Given the description of an element on the screen output the (x, y) to click on. 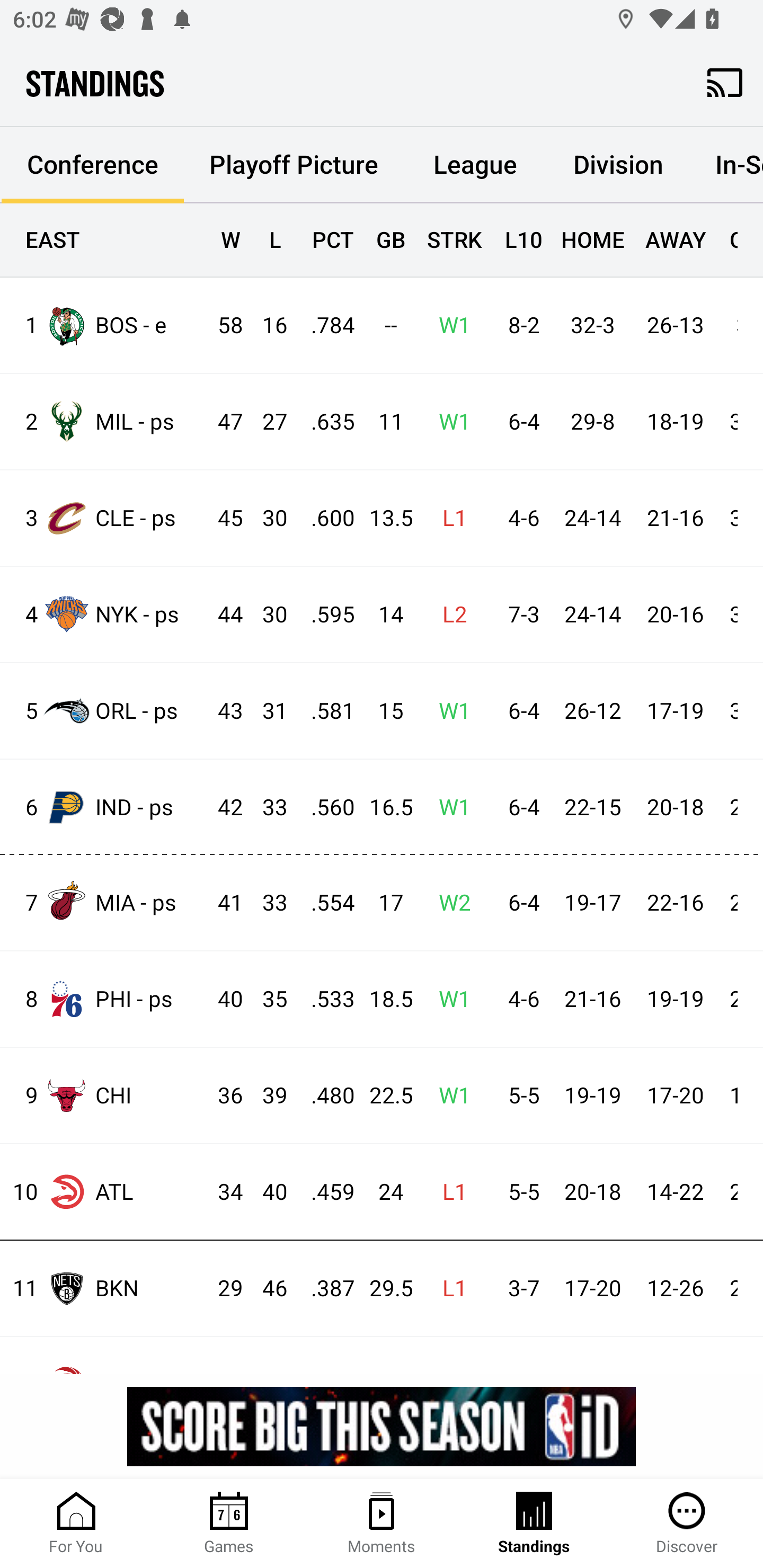
Cast. Disconnected (724, 82)
Playoff Picture (293, 165)
League (475, 165)
Division (618, 165)
1 BOS - e (104, 325)
16 (265, 324)
.784 (323, 324)
-- (382, 324)
W1 (449, 324)
8-2 (518, 324)
32-3 (592, 324)
26-13 (675, 324)
2 MIL - ps (104, 421)
27 (265, 422)
.635 (323, 422)
11 (382, 422)
W1 (449, 422)
6-4 (518, 422)
29-8 (592, 422)
18-19 (675, 422)
3 CLE - ps (104, 518)
30 (265, 517)
.600 (323, 517)
13.5 (382, 517)
L1 (449, 517)
4-6 (518, 517)
24-14 (592, 517)
21-16 (675, 517)
4 NYK - ps (104, 613)
30 (265, 615)
.595 (323, 615)
14 (382, 615)
L2 (449, 615)
7-3 (518, 615)
24-14 (592, 615)
20-16 (675, 615)
5 ORL - ps (104, 710)
31 (265, 710)
.581 (323, 710)
15 (382, 710)
W1 (449, 710)
6-4 (518, 710)
26-12 (592, 710)
17-19 (675, 710)
6 IND - ps (104, 806)
33 (265, 807)
.560 (323, 807)
16.5 (382, 807)
W1 (449, 807)
6-4 (518, 807)
22-15 (592, 807)
20-18 (675, 807)
7 MIA - ps (104, 902)
33 (265, 902)
.554 (323, 902)
17 (382, 902)
W2 (449, 902)
6-4 (518, 902)
19-17 (592, 902)
22-16 (675, 902)
8 PHI - ps (104, 999)
35 (265, 999)
.533 (323, 999)
18.5 (382, 999)
W1 (449, 999)
4-6 (518, 999)
21-16 (592, 999)
19-19 (675, 999)
9 CHI (104, 1095)
39 (265, 1095)
.480 (323, 1095)
22.5 (382, 1095)
W1 (449, 1095)
5-5 (518, 1095)
19-19 (592, 1095)
17-20 (675, 1095)
10 ATL (104, 1192)
40 (265, 1192)
.459 (323, 1192)
24 (382, 1192)
L1 (449, 1192)
5-5 (518, 1192)
20-18 (592, 1192)
14-22 (675, 1192)
11 BKN (104, 1287)
46 (265, 1288)
.387 (323, 1288)
29.5 (382, 1288)
L1 (449, 1288)
3-7 (518, 1288)
17-20 (592, 1288)
12-26 (675, 1288)
g5nqqygr7owph (381, 1426)
For You (76, 1523)
Games (228, 1523)
Moments (381, 1523)
Discover (686, 1523)
